Given the description of an element on the screen output the (x, y) to click on. 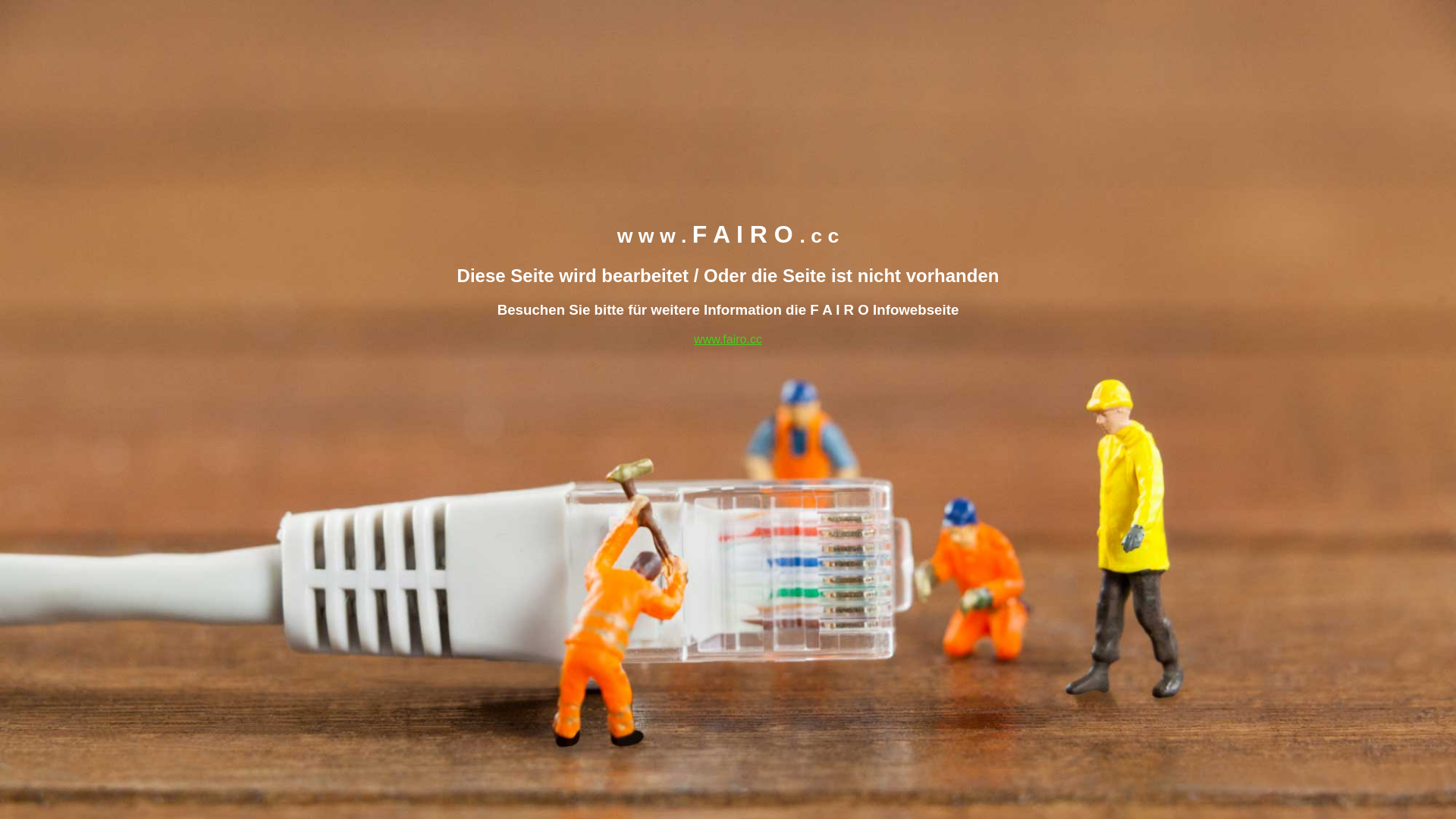
www.fairo.cc Element type: text (727, 338)
